Given the description of an element on the screen output the (x, y) to click on. 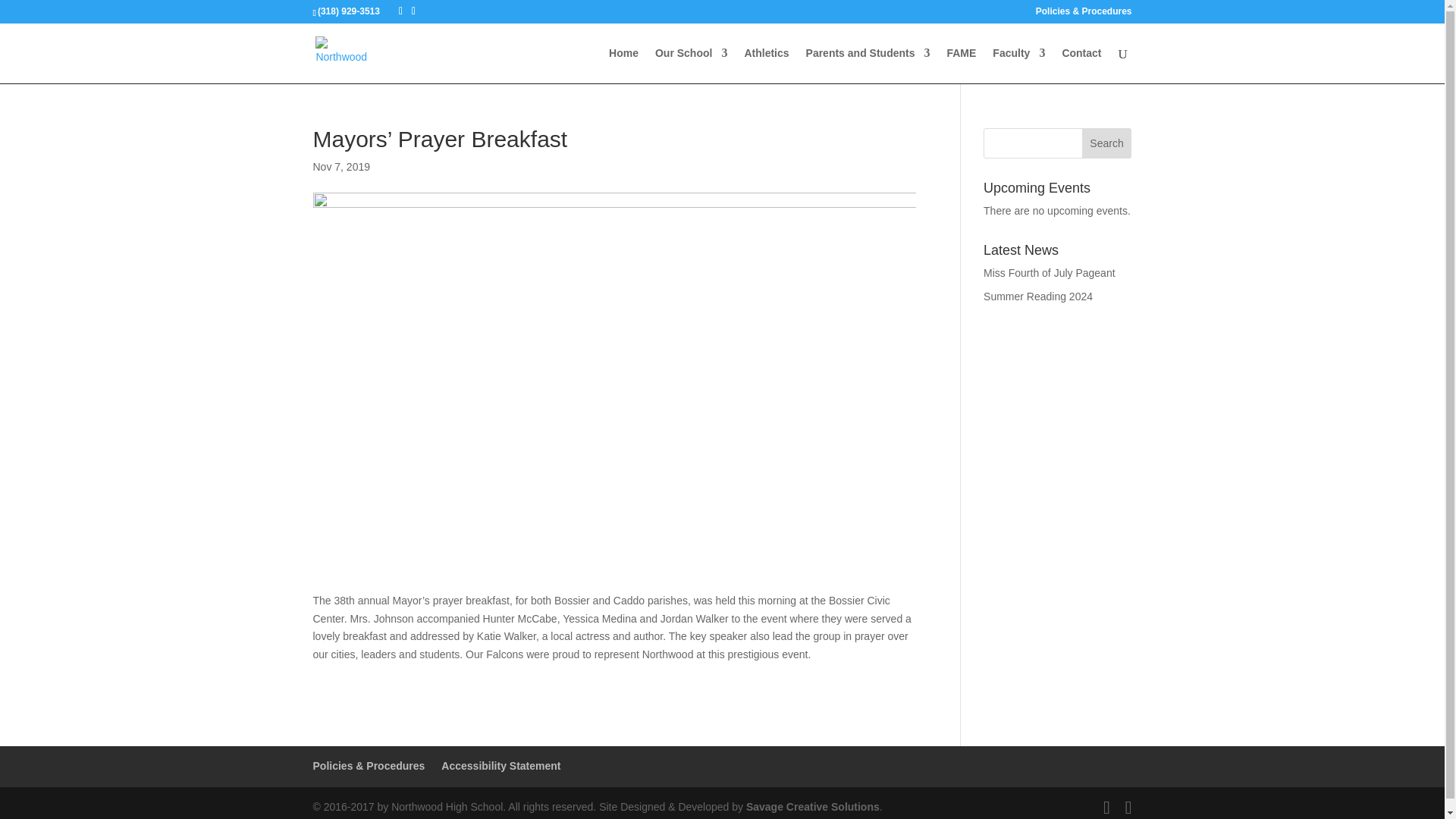
Contact (1080, 65)
Savage Creative Solutions (812, 806)
Accessibility Statement (500, 766)
Summer Reading 2024 (1038, 296)
FAME (960, 65)
Athletics (766, 65)
Search (1106, 142)
Parents and Students (868, 65)
Our School (690, 65)
Faculty (1018, 65)
Home (623, 65)
Miss Fourth of July Pageant (1049, 272)
Search (1106, 142)
